Given the description of an element on the screen output the (x, y) to click on. 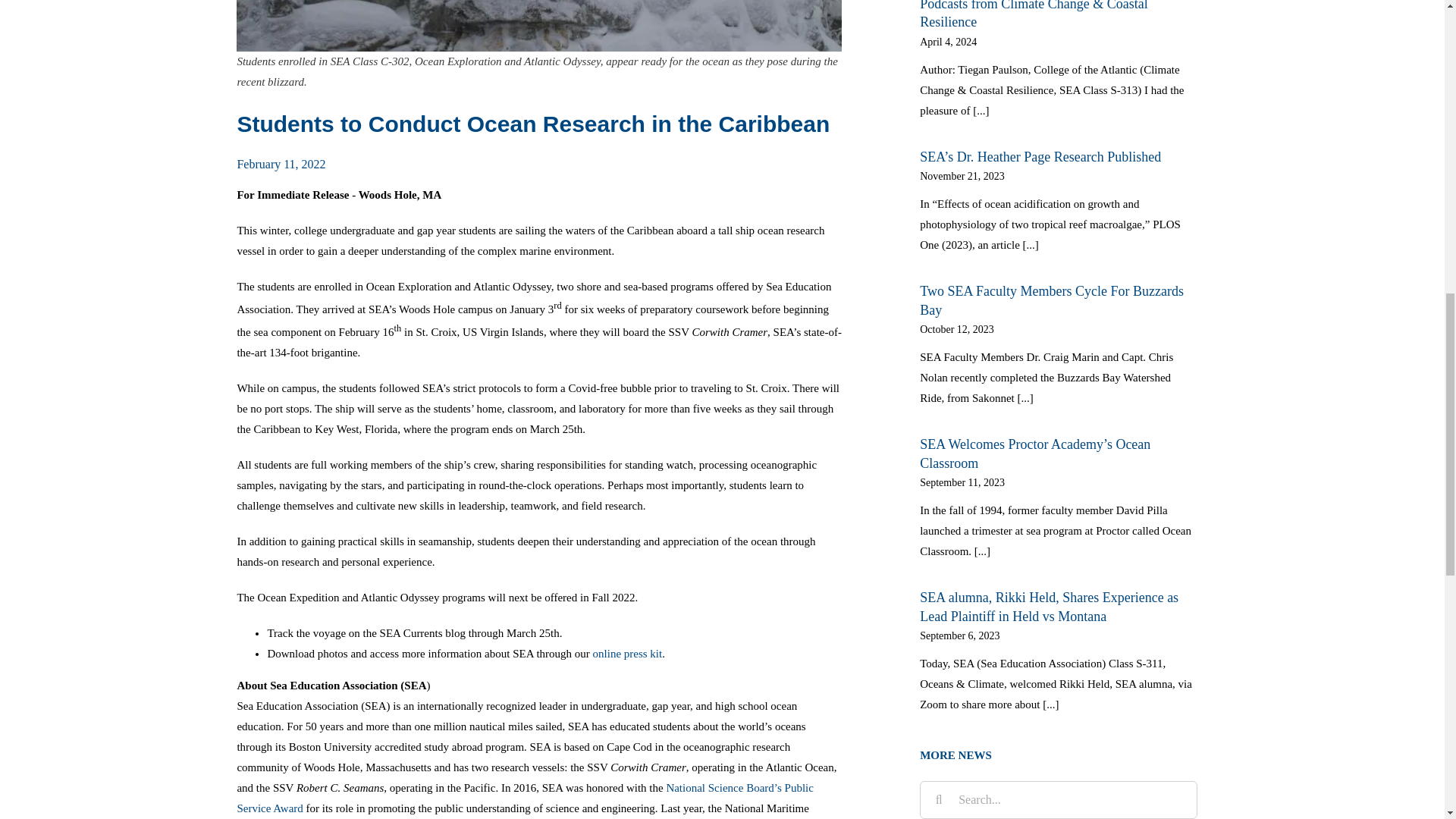
C302Classphoto (538, 25)
